Given the description of an element on the screen output the (x, y) to click on. 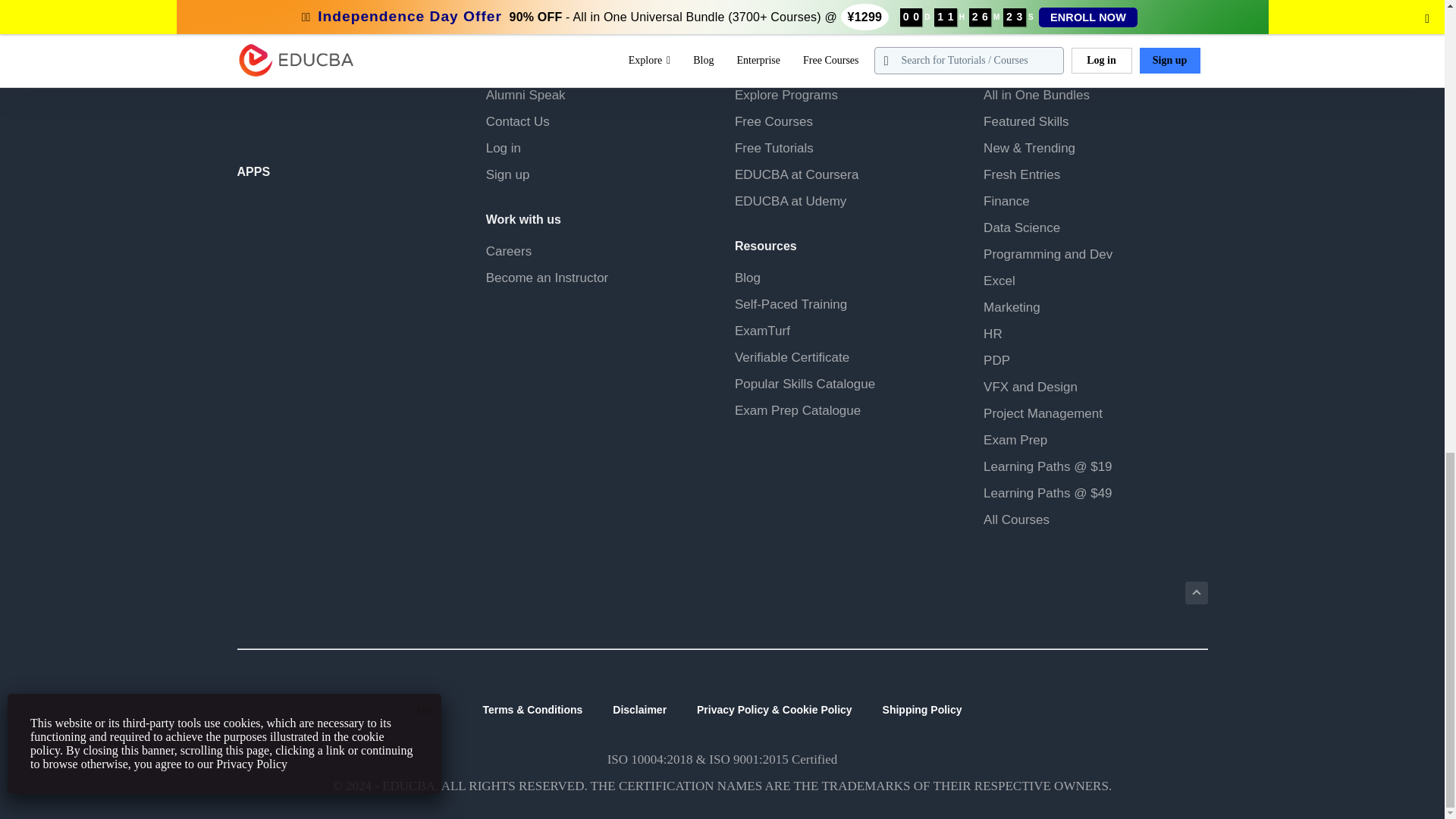
Log in (503, 147)
EDUCBA Instagram (358, 77)
EDUCBA Udemy (322, 115)
EDUCBA Facebook (250, 77)
EDUCBA Coursera (287, 115)
Sign up (507, 174)
EDUCBA Android App (311, 226)
EDUCBA LinkedIN (322, 77)
Contact Us (518, 121)
About us (511, 68)
